Given the description of an element on the screen output the (x, y) to click on. 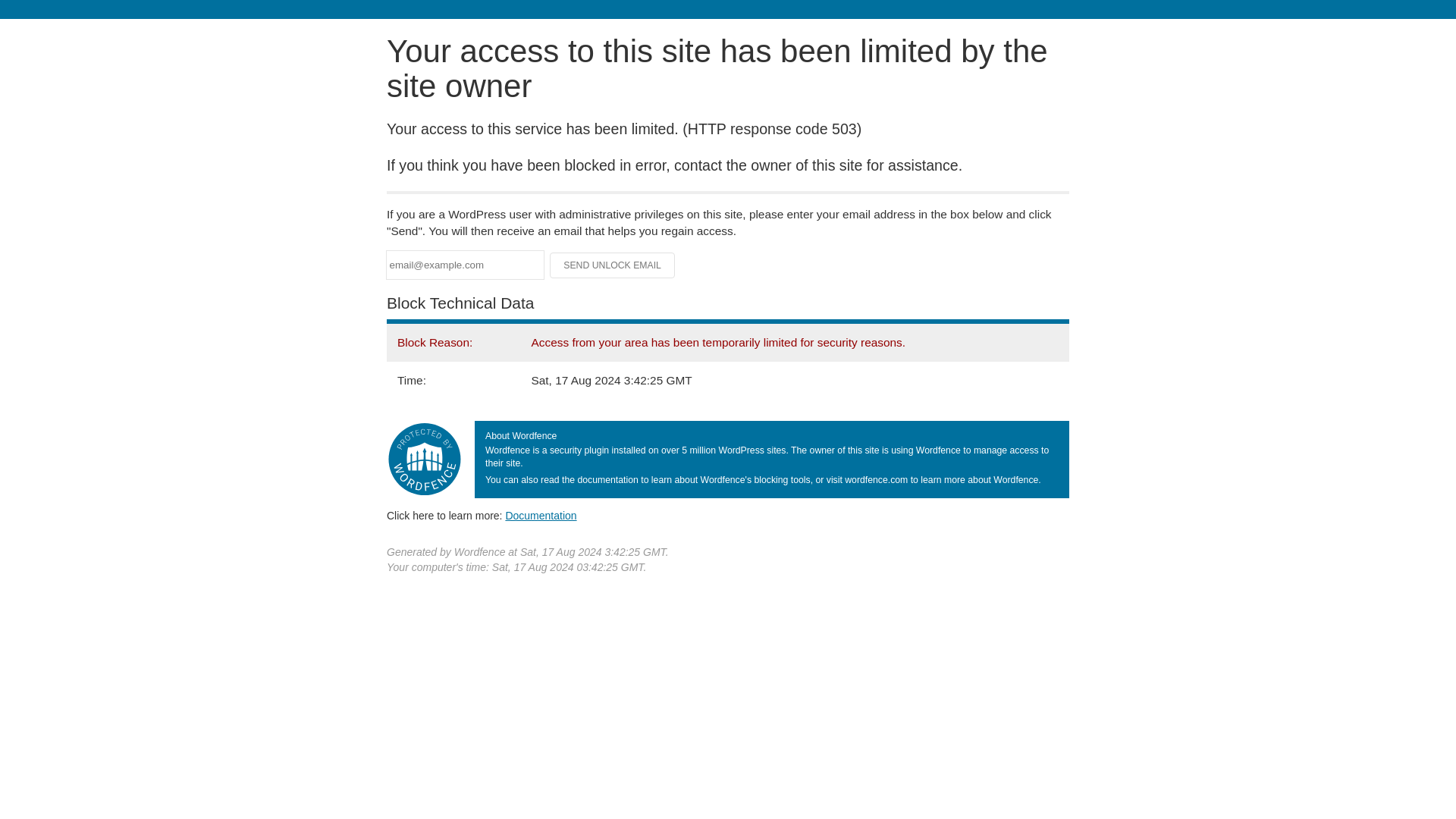
Documentation (540, 515)
Send Unlock Email (612, 265)
Send Unlock Email (612, 265)
